Given the description of an element on the screen output the (x, y) to click on. 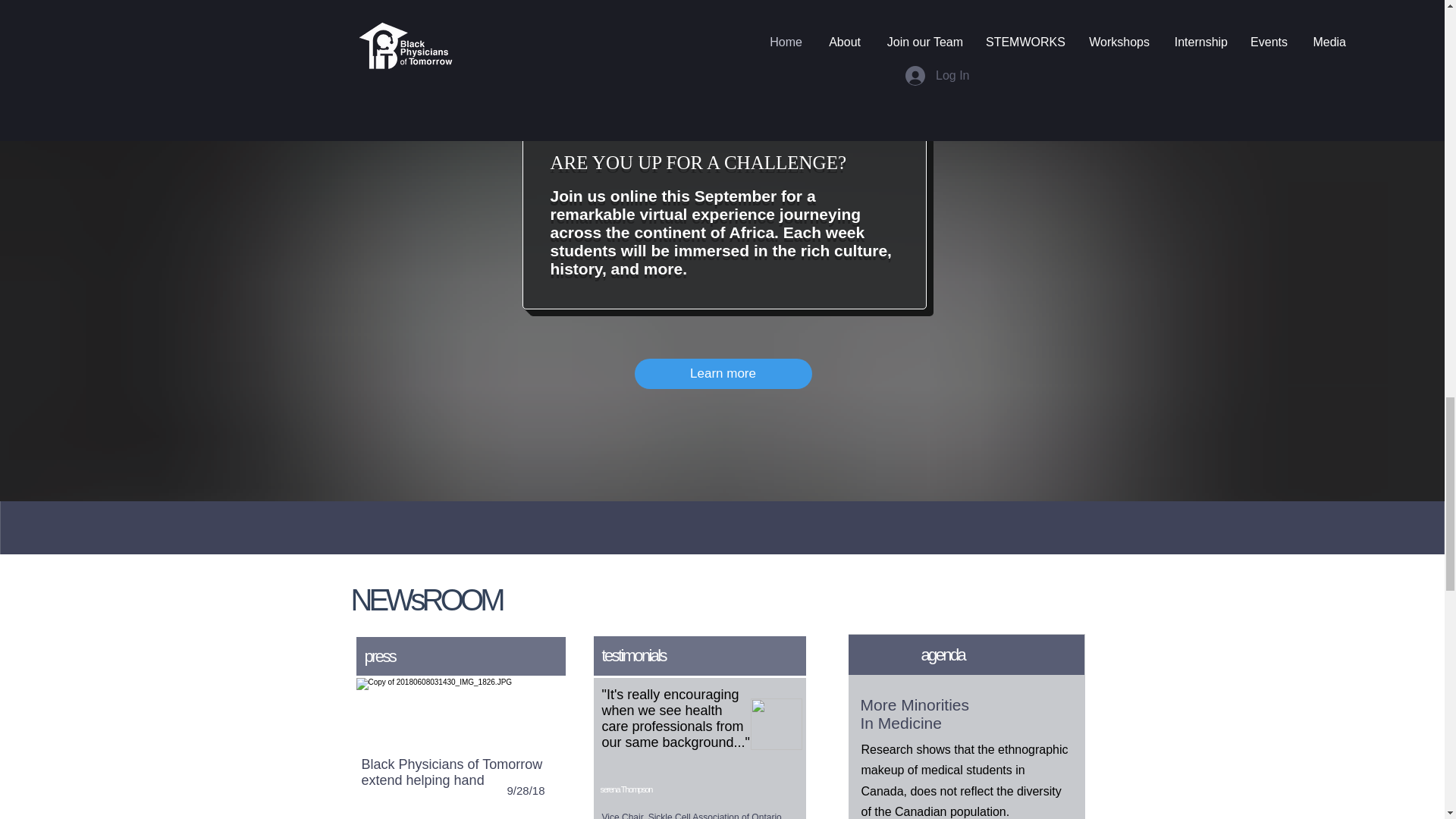
press (379, 656)
Learn more (721, 373)
Black Physicians of Tomorrow extend helping hand (451, 771)
NEWsROOM (425, 599)
